Given the description of an element on the screen output the (x, y) to click on. 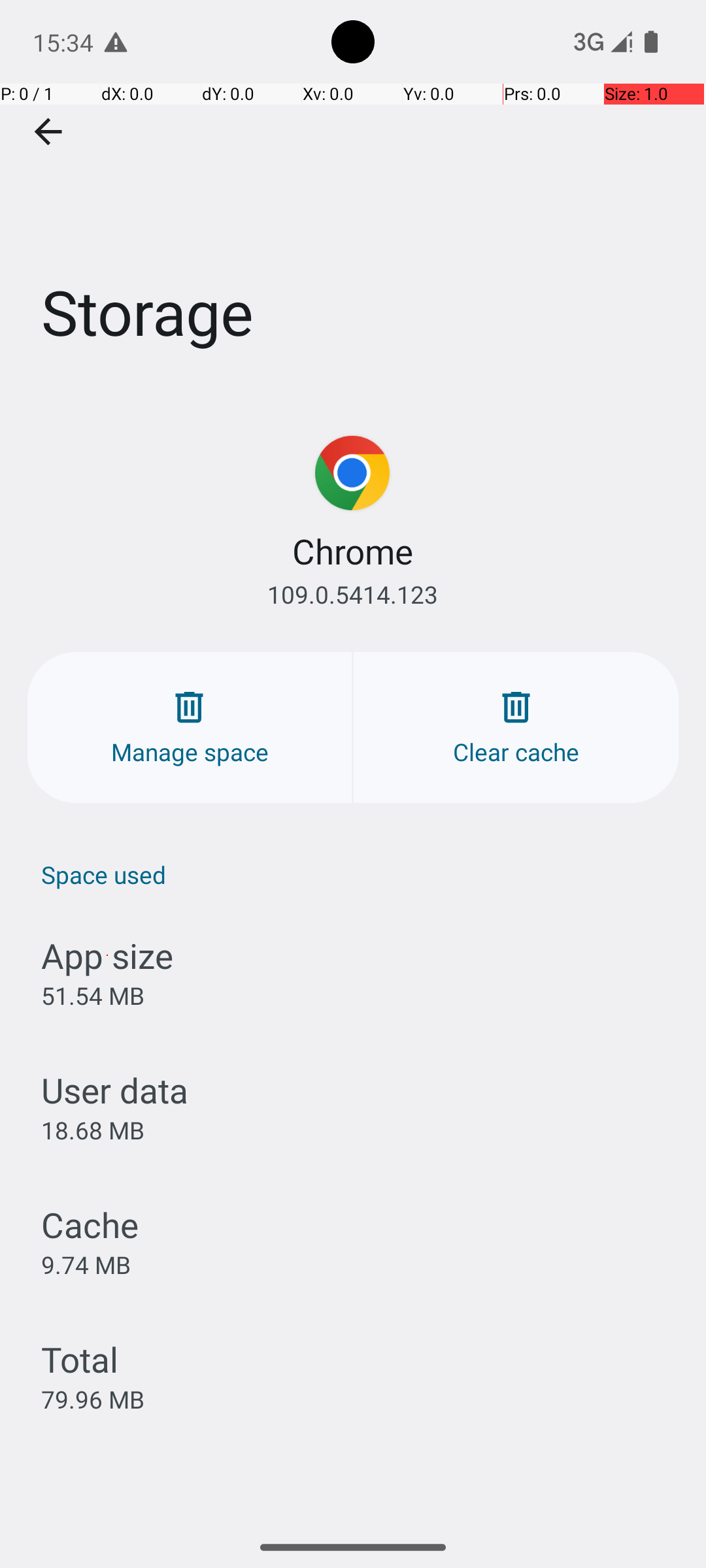
109.0.5414.123 Element type: android.widget.TextView (352, 593)
Manage space Element type: android.widget.Button (189, 727)
Clear cache Element type: android.widget.Button (515, 727)
Space used Element type: android.widget.TextView (359, 874)
App size Element type: android.widget.TextView (107, 955)
51.54 MB Element type: android.widget.TextView (92, 995)
User data Element type: android.widget.TextView (114, 1089)
18.68 MB Element type: android.widget.TextView (92, 1129)
Cache Element type: android.widget.TextView (89, 1224)
9.74 MB Element type: android.widget.TextView (85, 1264)
Total Element type: android.widget.TextView (79, 1359)
79.96 MB Element type: android.widget.TextView (92, 1398)
